Given the description of an element on the screen output the (x, y) to click on. 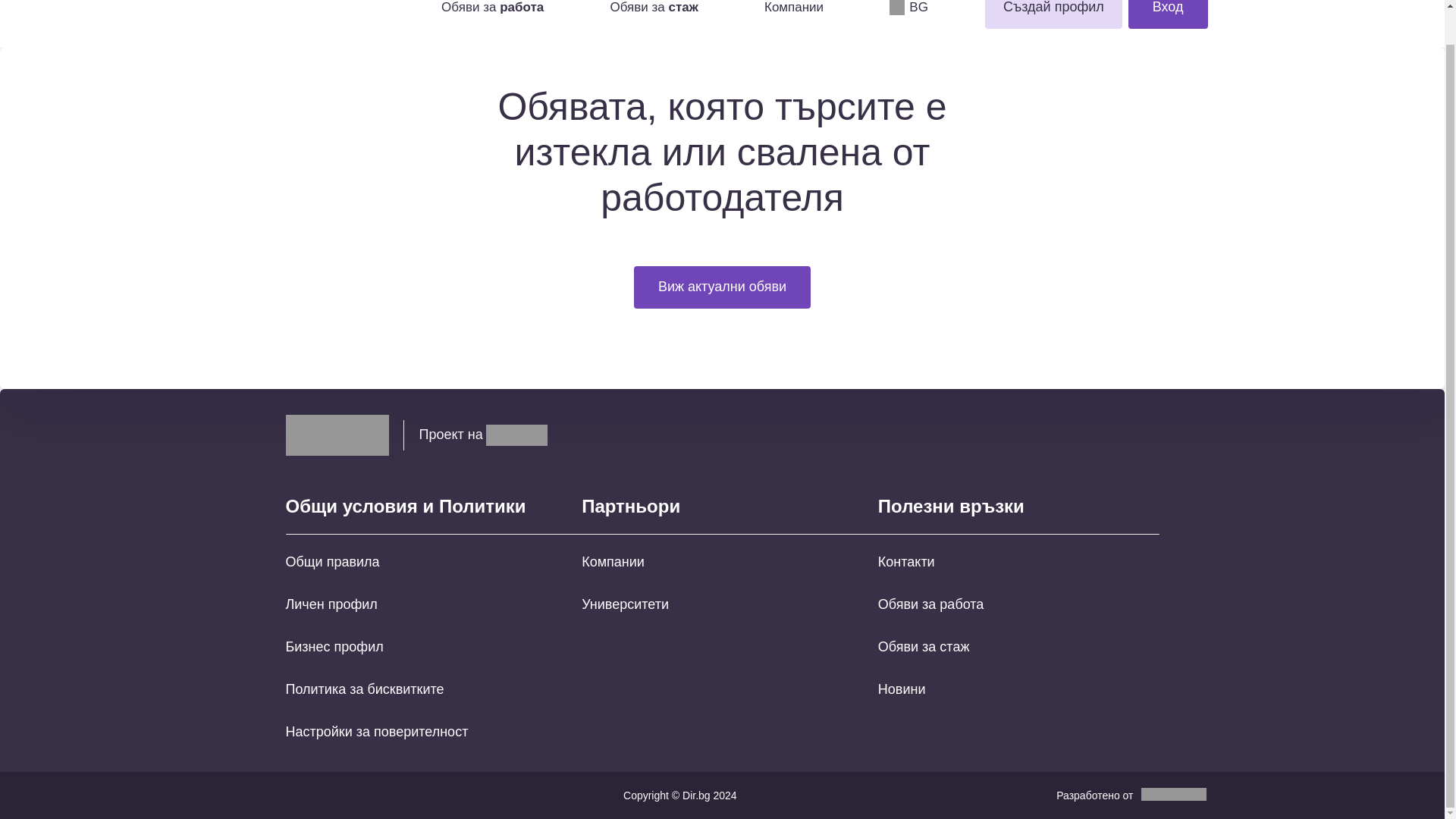
BG (908, 8)
Studio X (1173, 793)
dir.bg (516, 435)
Work Talent (336, 434)
Work Talent (310, 14)
LinkedIn (1146, 435)
Facebook (1091, 435)
